Given the description of an element on the screen output the (x, y) to click on. 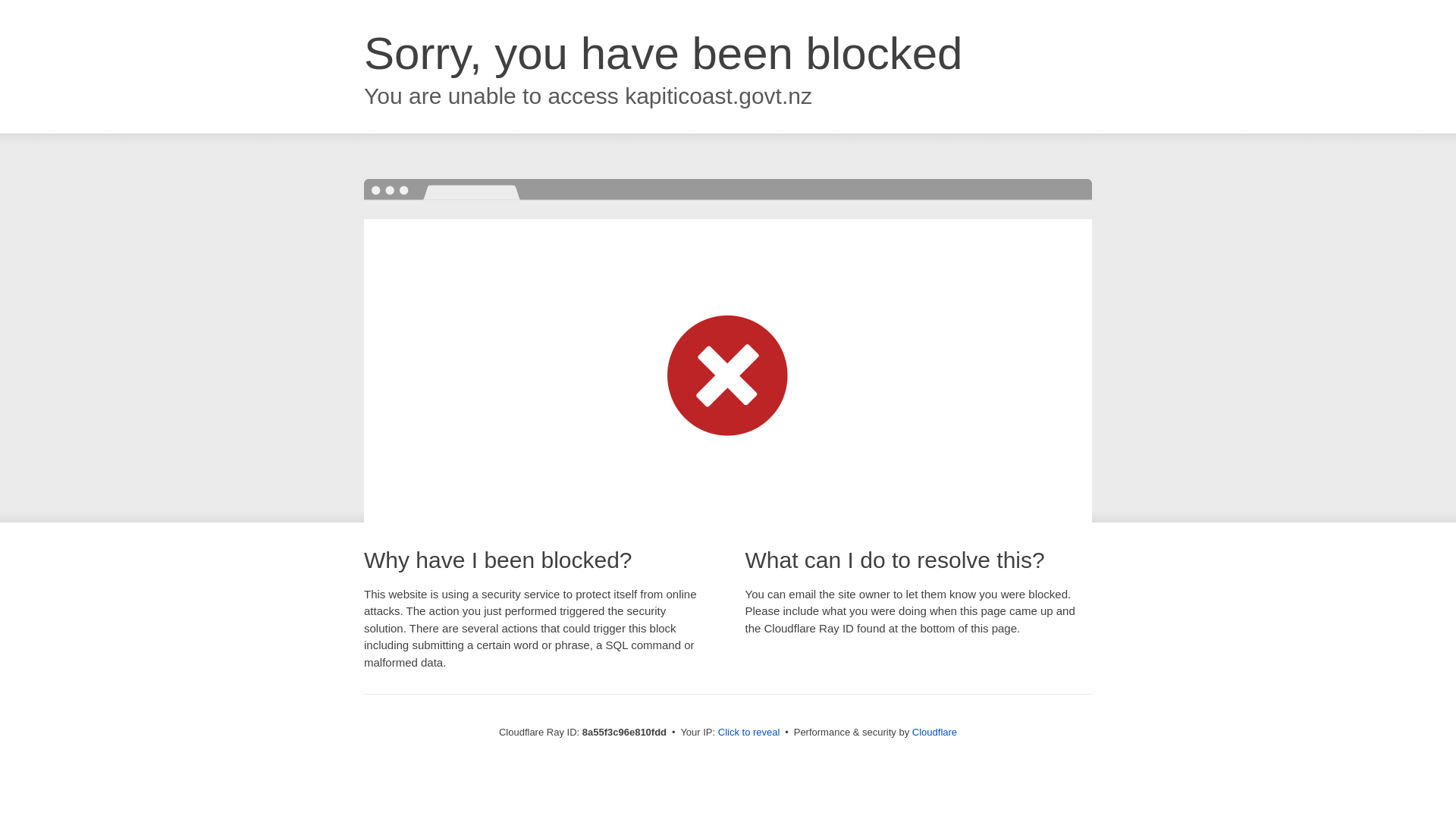
Cloudflare (934, 731)
Click to reveal (748, 732)
